Given the description of an element on the screen output the (x, y) to click on. 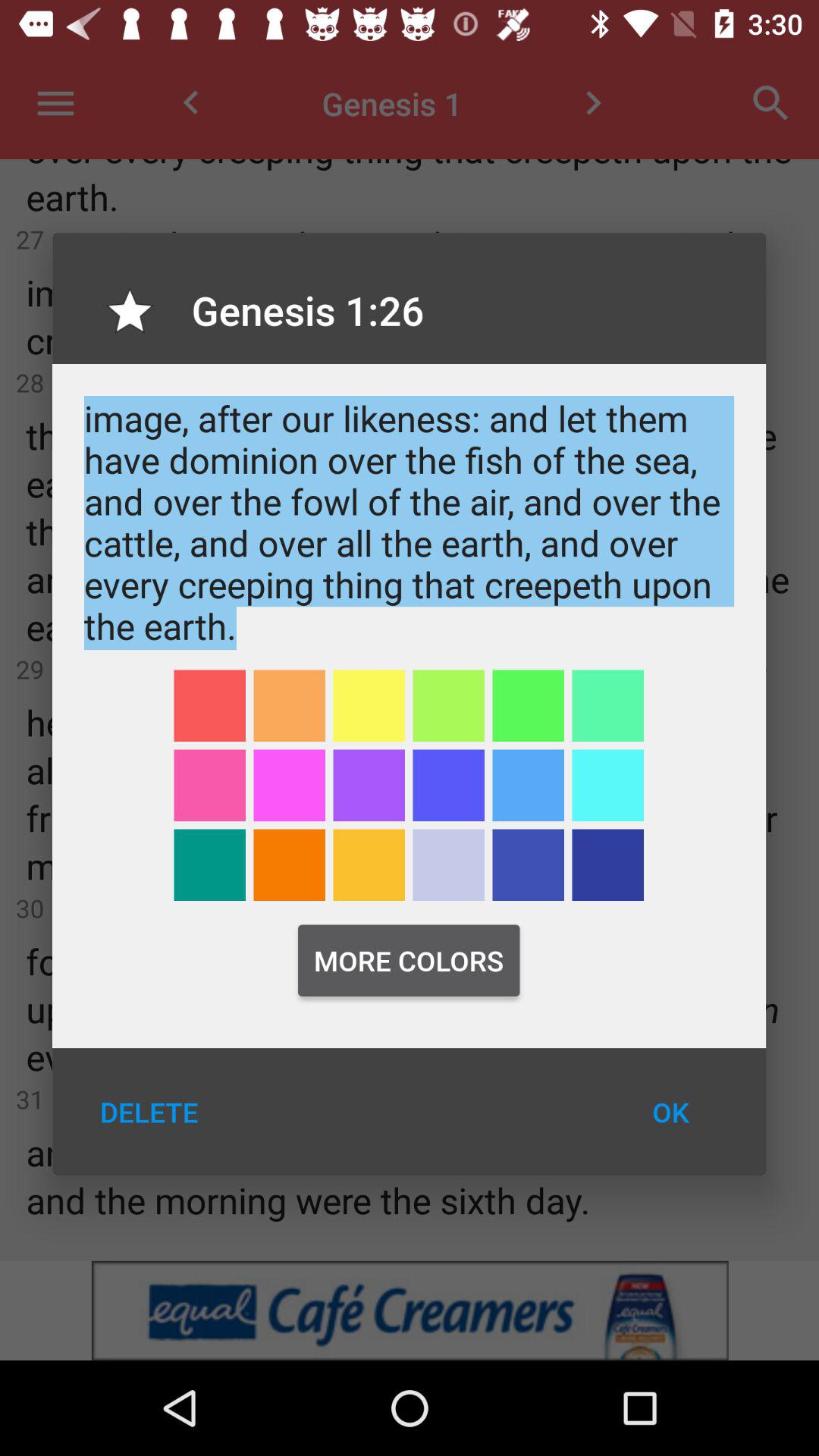
pick this color (209, 785)
